Given the description of an element on the screen output the (x, y) to click on. 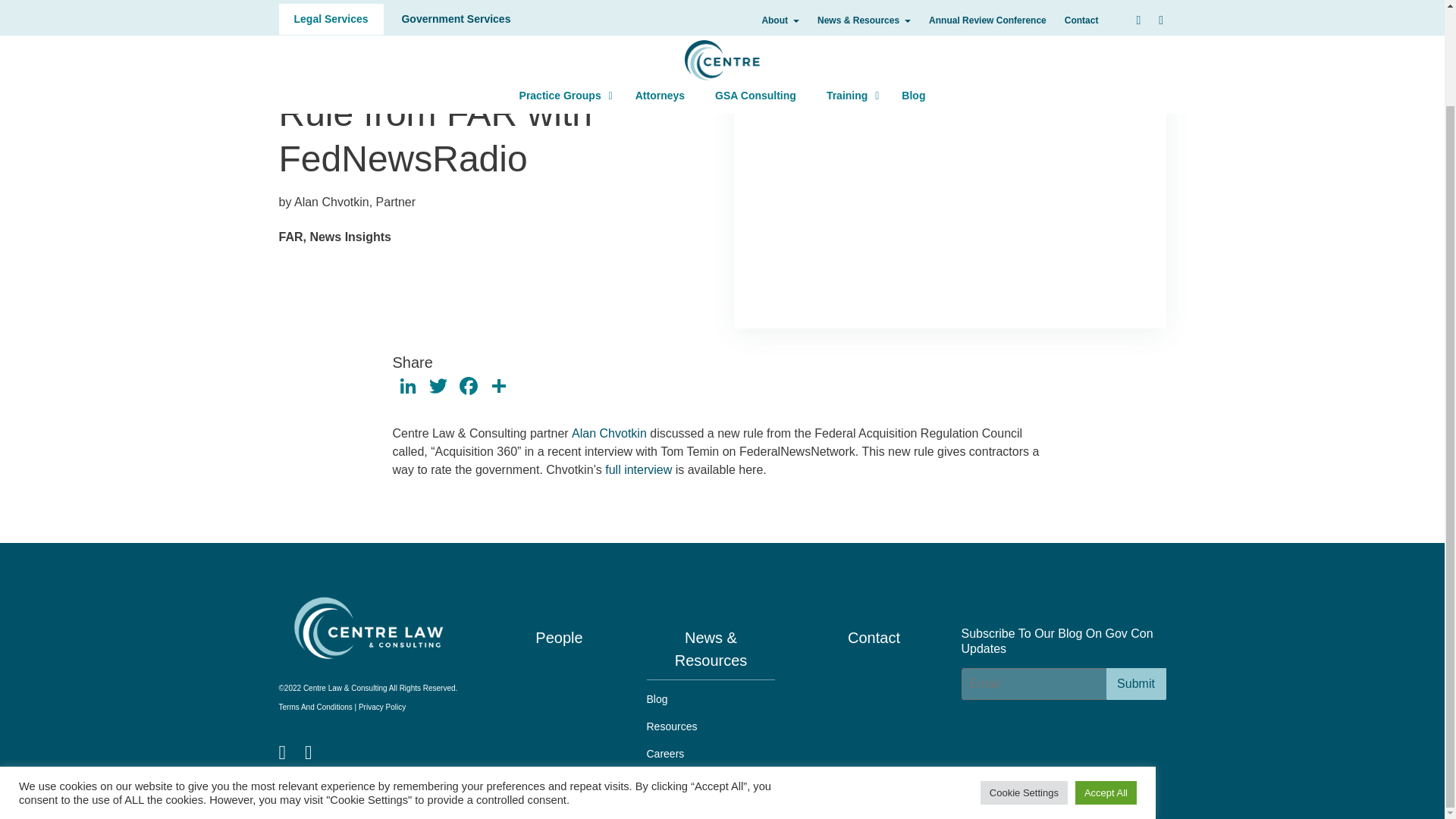
Practice Groups (561, 1)
Twitter (437, 387)
LinkedIn (1135, 684)
Facebook (408, 387)
